Given the description of an element on the screen output the (x, y) to click on. 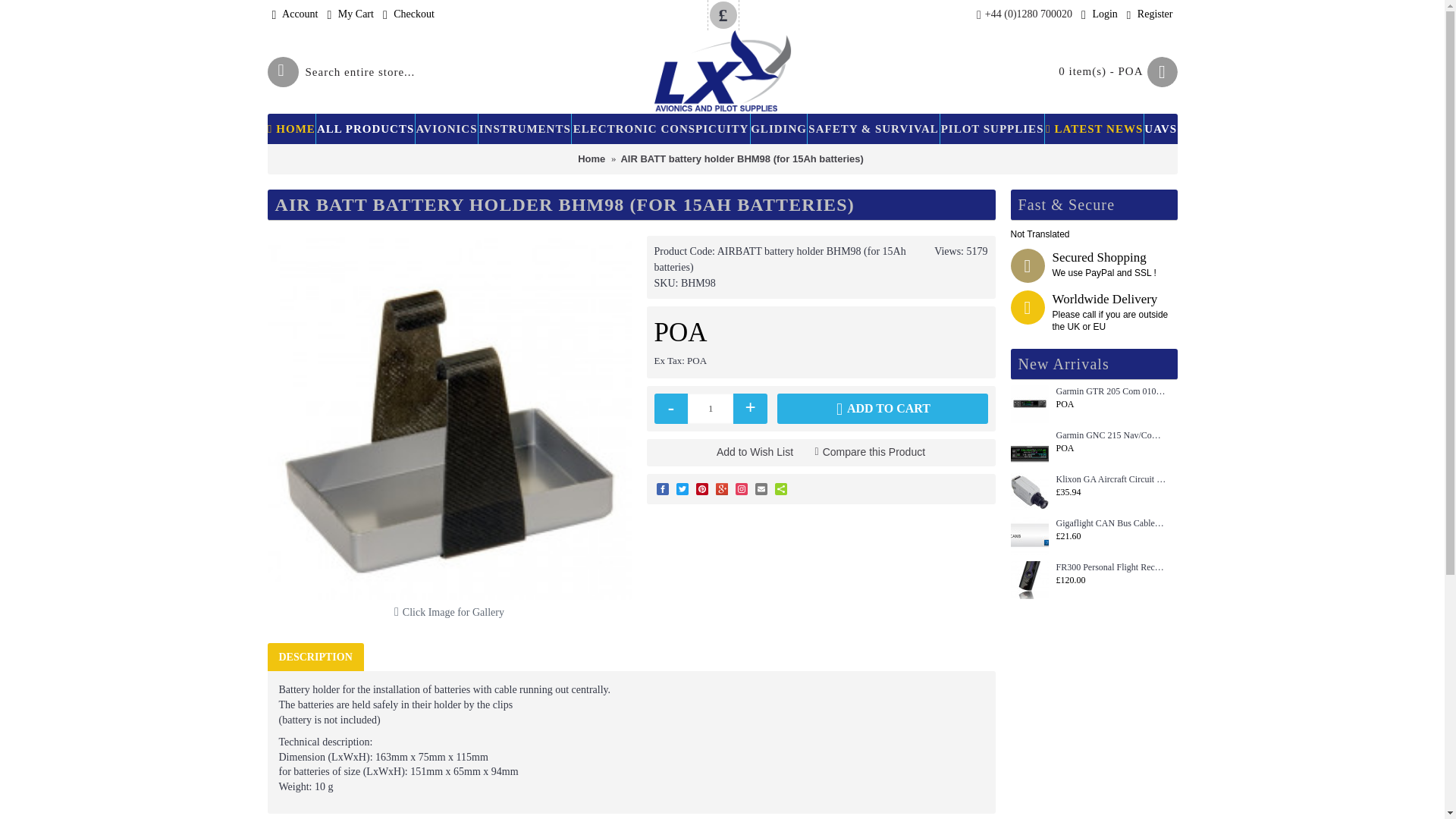
Gigaflight CAN Bus Cable per meter (1029, 535)
Register (1149, 15)
ALL PRODUCTS (364, 128)
Garmin GTR 205 Com 010-02480-01 (1029, 403)
Account (293, 15)
Klixon GA Aircraft Circuit Breakers (1029, 492)
HOME (290, 128)
Checkout (408, 15)
FR300 Personal Flight Recorder and Logbook (1029, 579)
Login (1099, 15)
LX Avionics Ltd (722, 71)
1 (710, 408)
My Cart (350, 15)
